Given the description of an element on the screen output the (x, y) to click on. 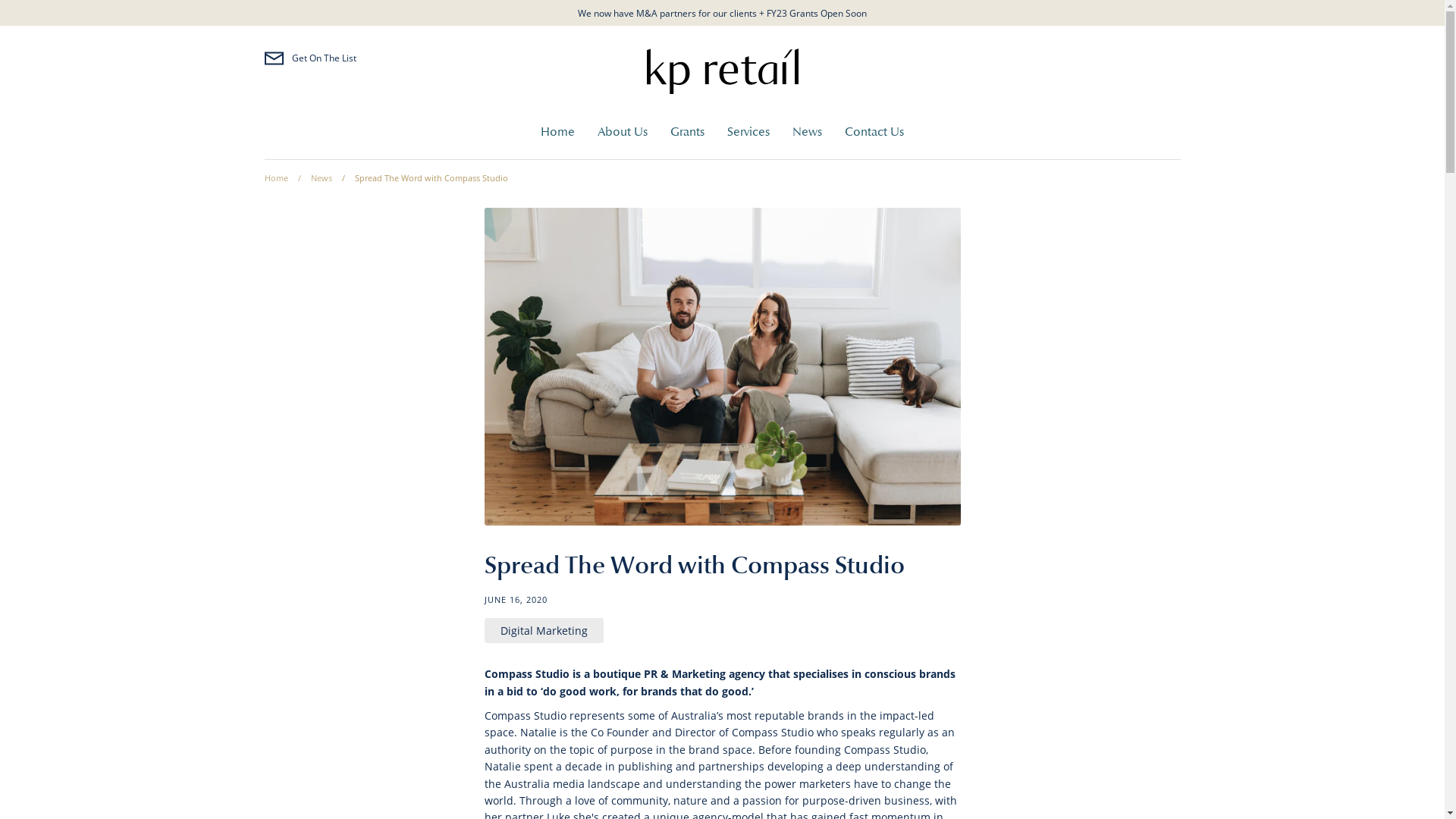
Home Element type: text (557, 131)
/ News Element type: text (310, 177)
Services Element type: text (748, 131)
Home Element type: text (275, 177)
News Element type: text (807, 131)
/ Spread The Word with Compass Studio Element type: text (420, 177)
About Us Element type: text (622, 131)
Grants Element type: text (687, 131)
Contact Us Element type: text (873, 131)
Get On The List Element type: text (309, 58)
Digital Marketing Element type: text (543, 630)
